Given the description of an element on the screen output the (x, y) to click on. 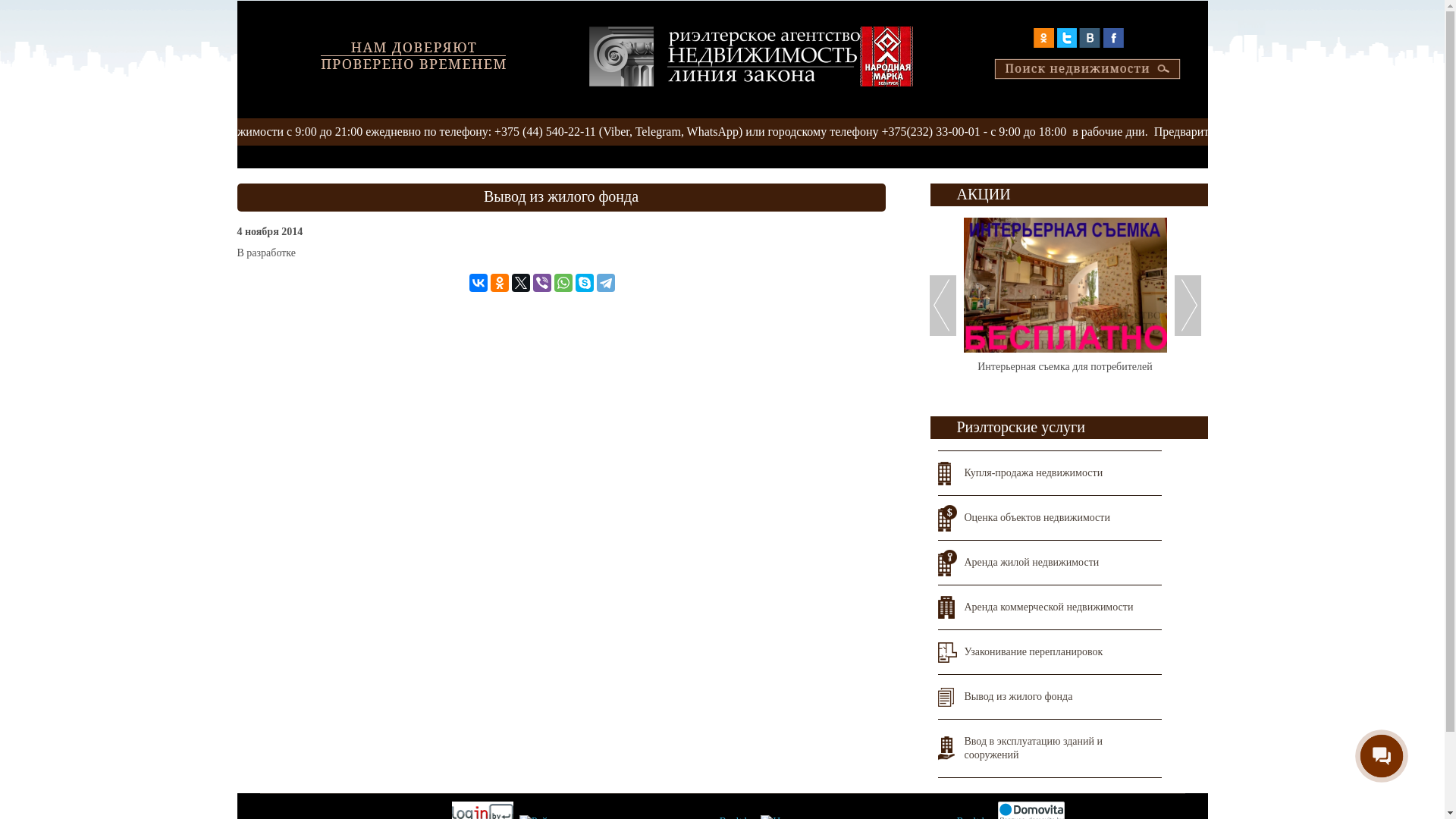
Next Element type: text (1186, 305)
Skype Element type: hover (584, 282)
Prev Element type: text (942, 305)
Twitter Element type: hover (520, 282)
Telegram Element type: hover (605, 282)
WhatsApp Element type: hover (563, 282)
Viber Element type: hover (542, 282)
